Given the description of an element on the screen output the (x, y) to click on. 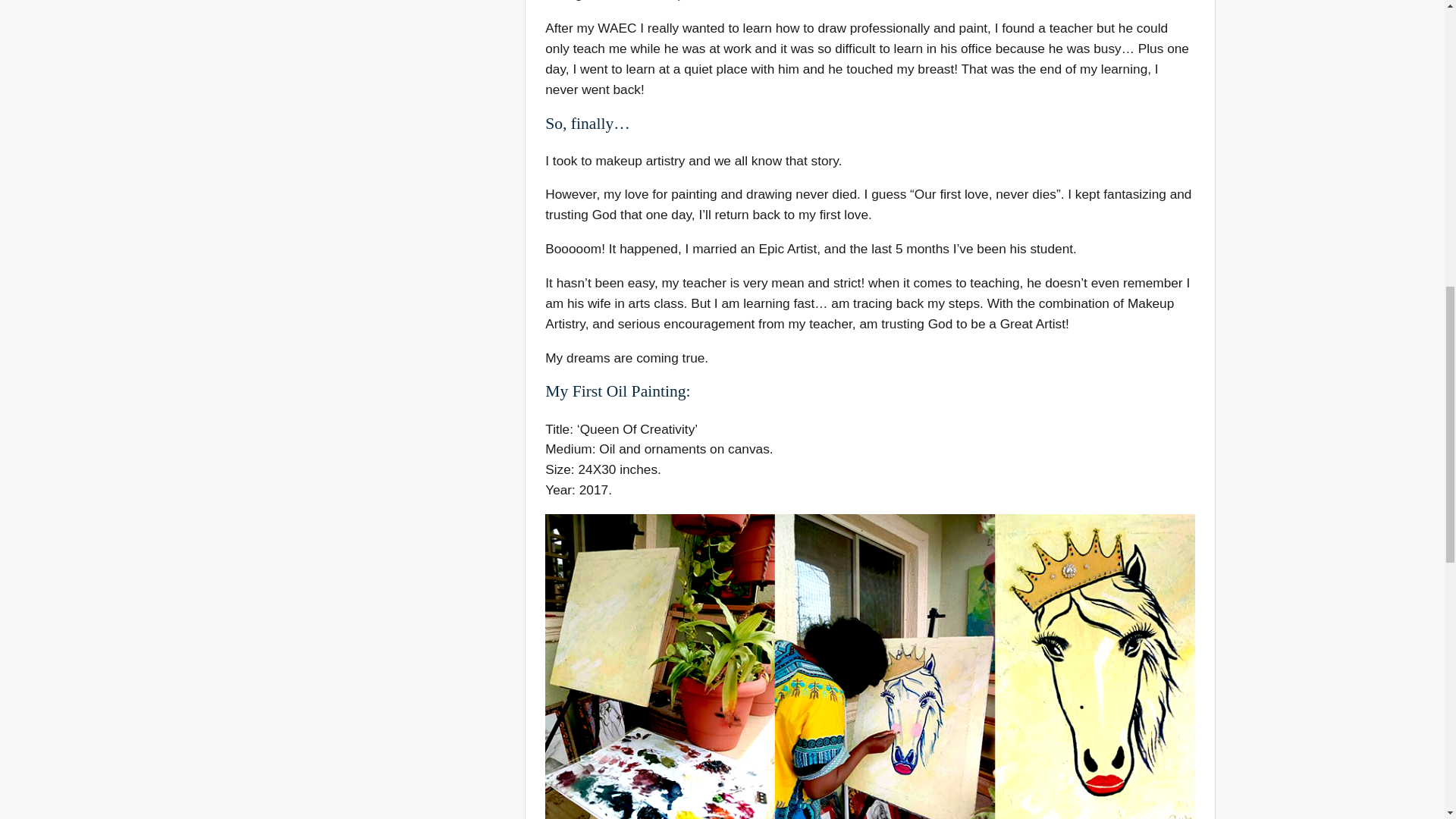
Makurdi (617, 2)
